Given the description of an element on the screen output the (x, y) to click on. 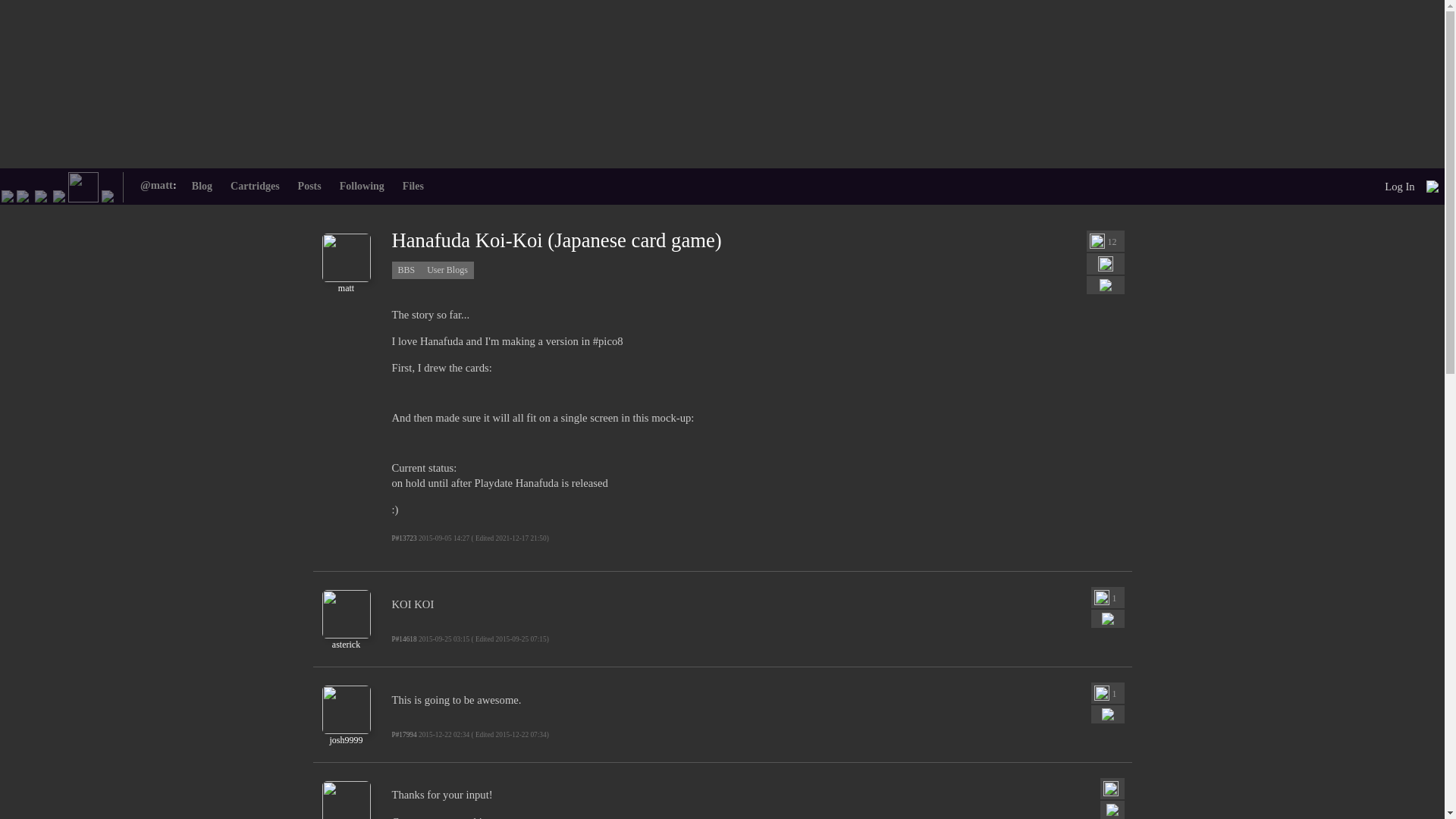
Give this post a star (1100, 693)
Superblog (107, 194)
Give this post a star (1100, 597)
Give this post a star (1096, 240)
Picotron (58, 194)
PICO-8 (22, 194)
matt (345, 282)
Lexaloffle Games (7, 194)
BBS (83, 185)
Voxatron (40, 194)
Add to your favourites collection (1105, 263)
